Given the description of an element on the screen output the (x, y) to click on. 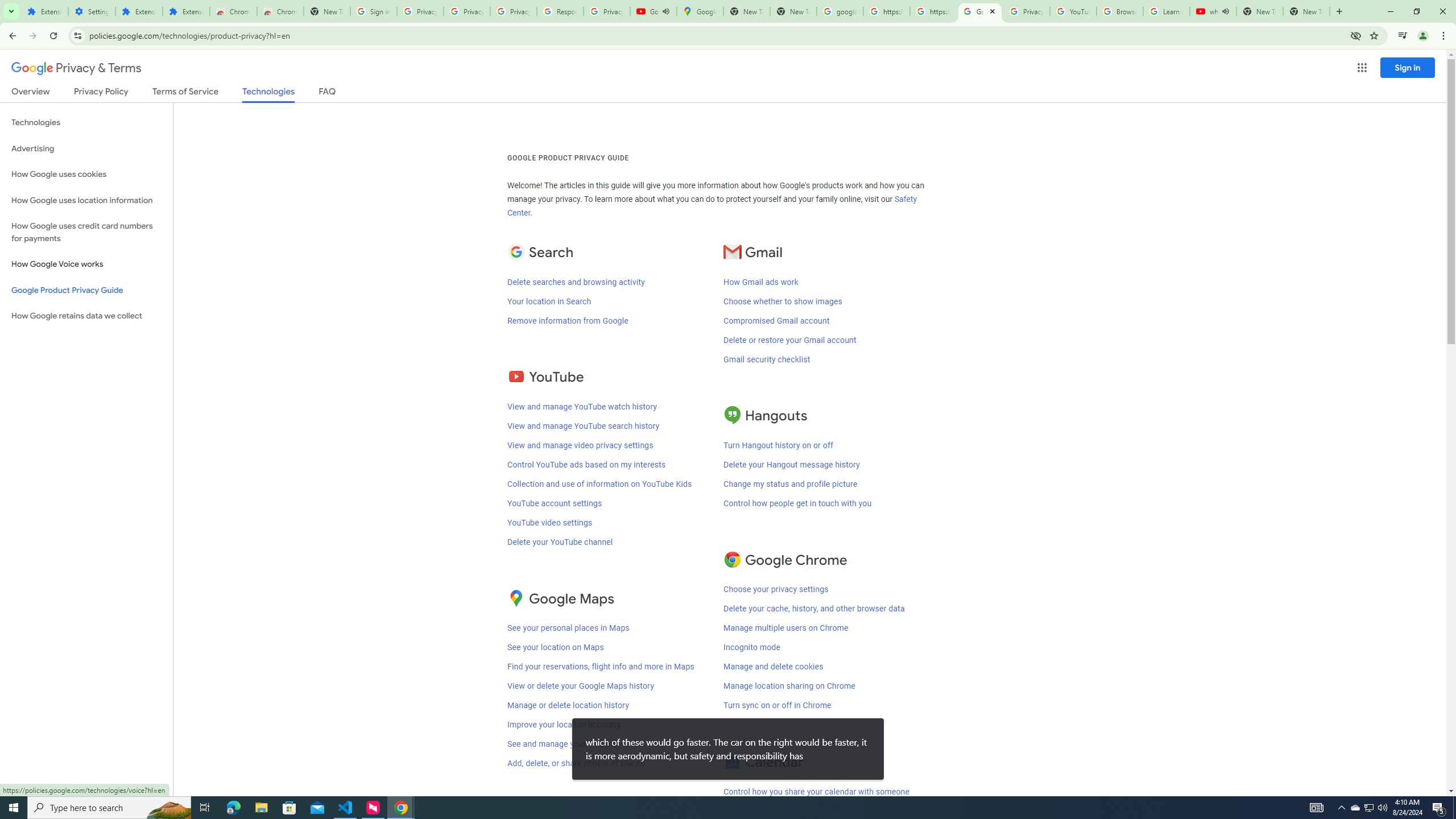
Compromised Gmail account (776, 320)
Manage and delete cookies (773, 666)
Chrome Web Store (233, 11)
Turn Hangout history on or off (778, 445)
Delete your YouTube channel (559, 542)
https://scholar.google.com/ (933, 11)
